Given the description of an element on the screen output the (x, y) to click on. 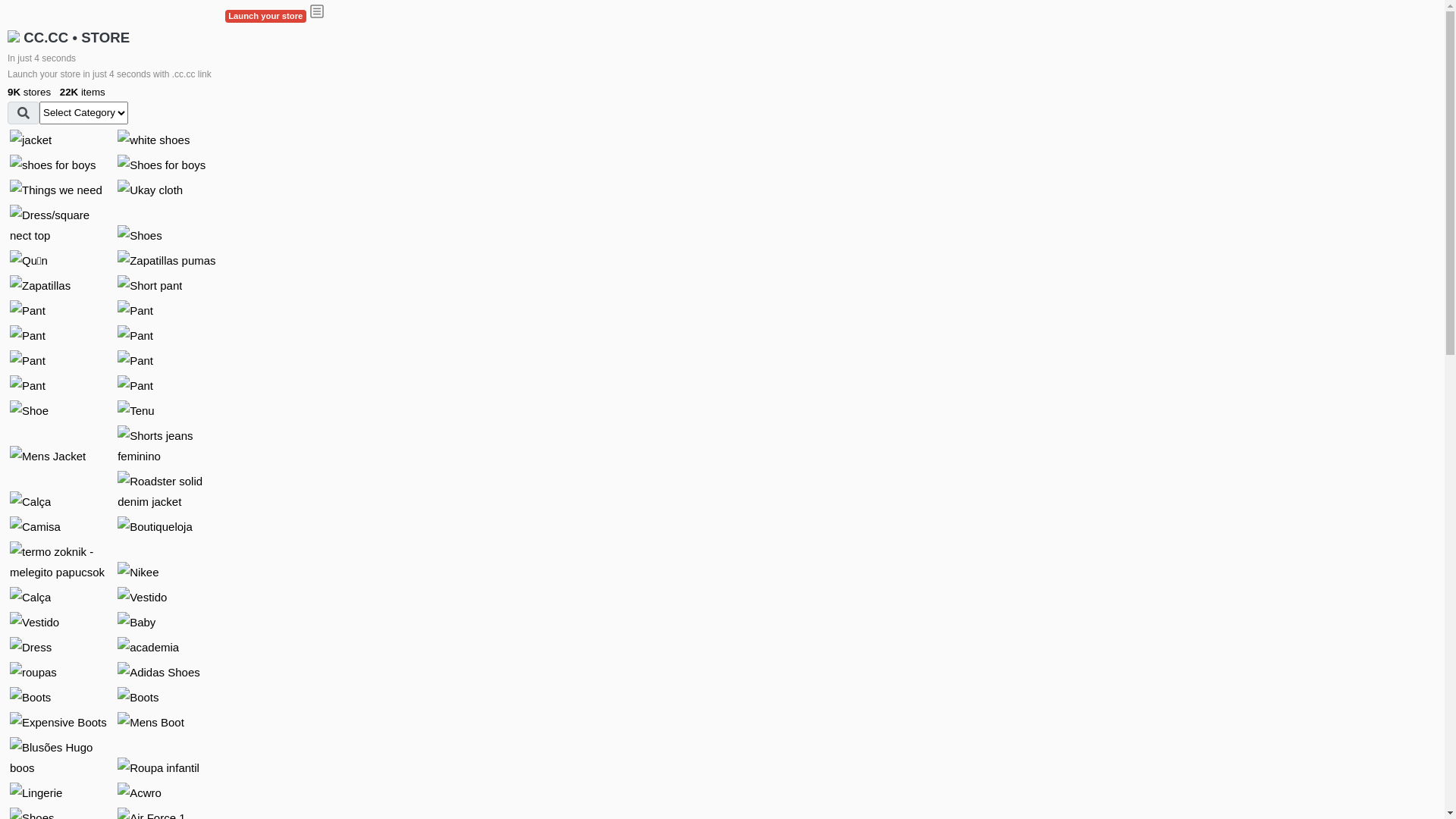
termo zoknik - melegito papucsok Element type: hover (59, 561)
Shoe Element type: hover (28, 410)
Shoes Element type: hover (139, 235)
roupas Element type: hover (32, 672)
Adidas Shoes Element type: hover (158, 672)
Zapatillas Element type: hover (39, 285)
Mens Jacket Element type: hover (47, 455)
Expensive Boots Element type: hover (57, 722)
Vestido Element type: hover (34, 621)
Boutiqueloja Element type: hover (154, 526)
Vestido Element type: hover (141, 596)
Nikee Element type: hover (137, 571)
Mens Boot Element type: hover (150, 722)
academia Element type: hover (147, 647)
jacket Element type: hover (30, 139)
Pant Element type: hover (27, 310)
Dress/square nect top Element type: hover (59, 224)
Pant Element type: hover (135, 335)
white shoes Element type: hover (153, 139)
Zapatillas pumas Element type: hover (166, 260)
Launch your store Element type: text (265, 15)
Lingerie Element type: hover (35, 792)
Pant Element type: hover (27, 385)
Things we need Element type: hover (55, 189)
Tenu Element type: hover (135, 410)
Shorts jeans feminino Element type: hover (167, 445)
Acwro Element type: hover (139, 792)
shoes for boys Element type: hover (52, 164)
Pant Element type: hover (27, 360)
Short pant Element type: hover (149, 285)
Ukay cloth Element type: hover (149, 189)
Pant Element type: hover (27, 335)
Pant Element type: hover (135, 360)
Shoes for boys Element type: hover (161, 164)
Baby Element type: hover (136, 621)
Roadster solid denim jacket Element type: hover (167, 490)
Pant Element type: hover (135, 385)
Roupa infantil Element type: hover (158, 767)
Boots Element type: hover (29, 697)
Boots Element type: hover (137, 697)
Dress Element type: hover (30, 647)
Camisa Element type: hover (34, 526)
Pant Element type: hover (135, 310)
